Given the description of an element on the screen output the (x, y) to click on. 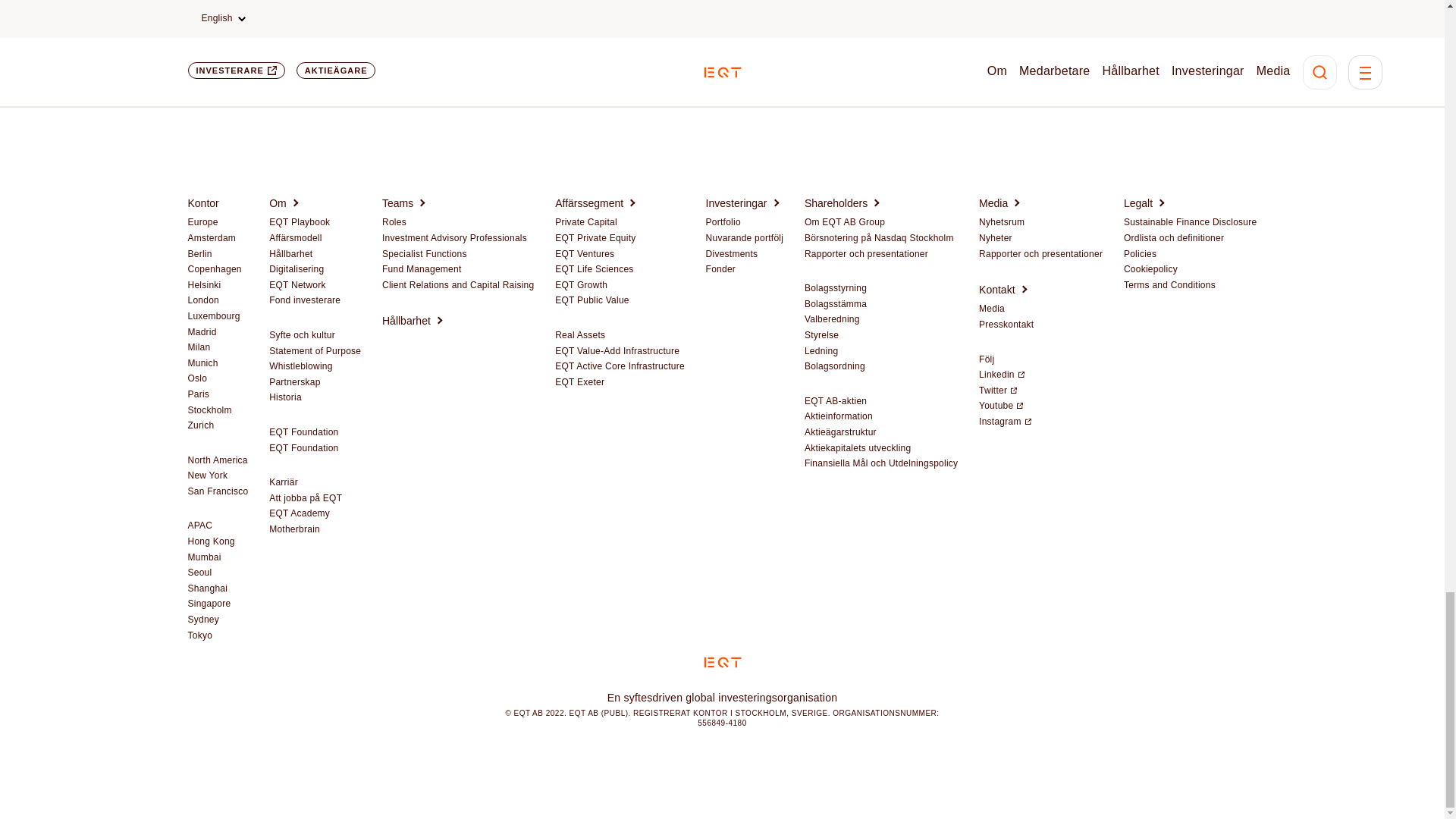
Madrid (201, 332)
Milan (199, 347)
Amsterdam (211, 238)
Helsinki (204, 285)
EQT logo (722, 662)
London (203, 300)
Berlin (199, 254)
Luxembourg (213, 316)
Copenhagen (214, 269)
